Given the description of an element on the screen output the (x, y) to click on. 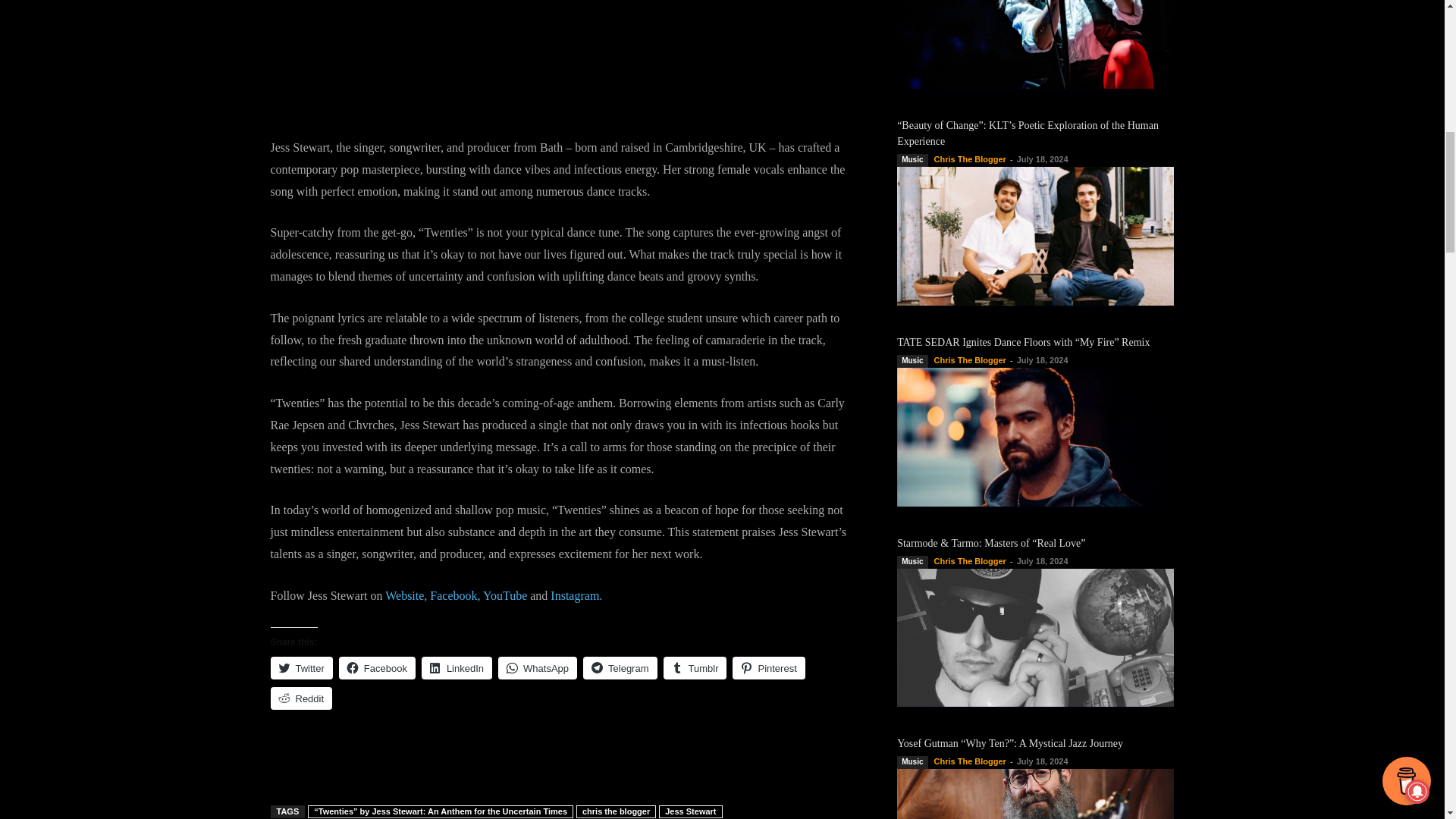
Website, (405, 594)
YouTube (505, 594)
Instagram. (576, 594)
Facebook, (454, 594)
